Given the description of an element on the screen output the (x, y) to click on. 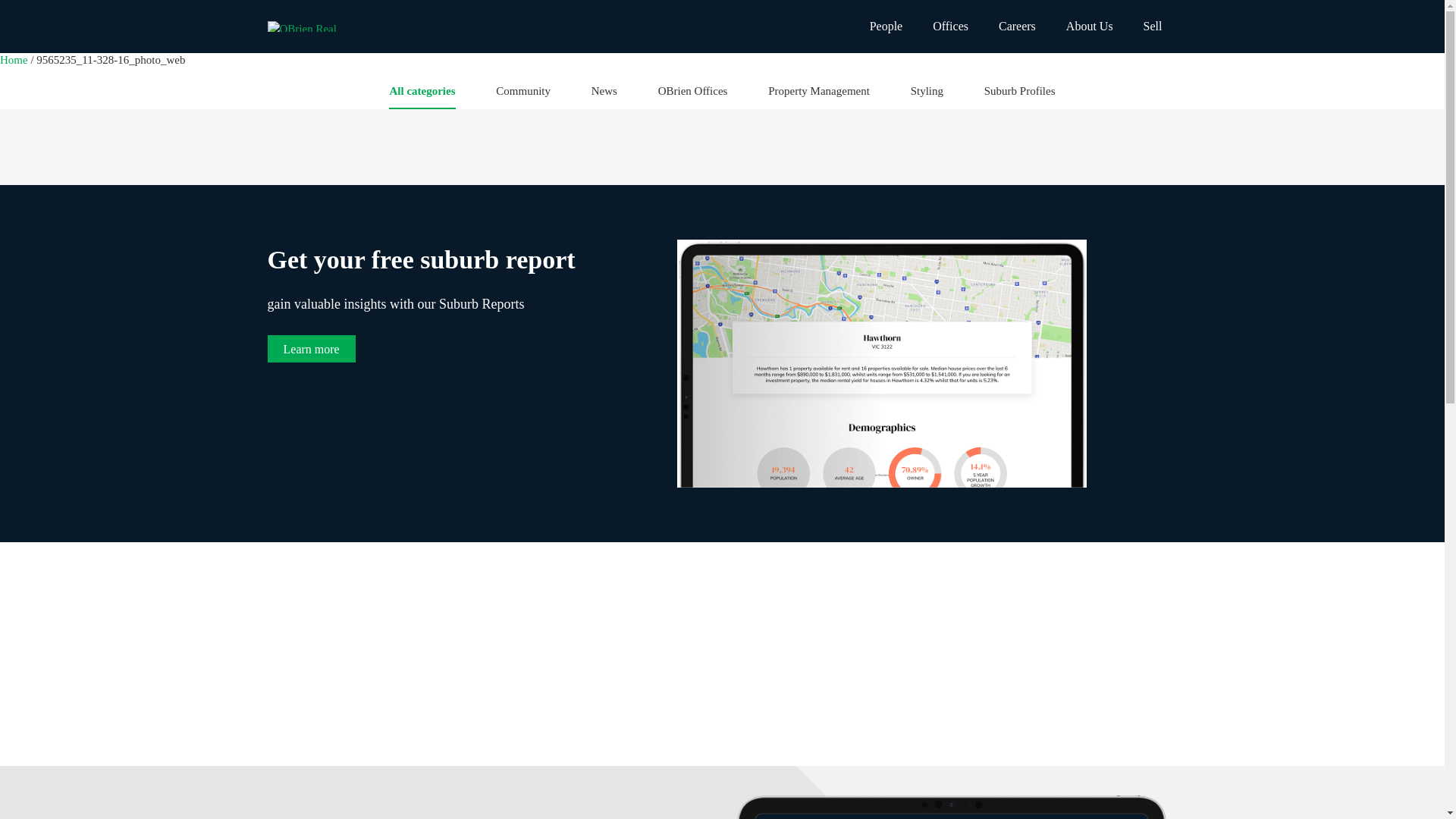
Home Element type: text (15, 59)
All categories Element type: text (422, 95)
People Element type: text (886, 26)
Sell Element type: text (1152, 26)
Property Management Element type: text (818, 95)
About Us Element type: text (1089, 26)
Styling Element type: text (926, 95)
Community Element type: text (522, 95)
Careers Element type: text (1017, 26)
Offices Element type: text (950, 26)
Learn more Element type: text (310, 348)
OBrien Offices Element type: text (693, 95)
News Element type: text (604, 95)
Suburb Profiles Element type: text (1019, 95)
